Given the description of an element on the screen output the (x, y) to click on. 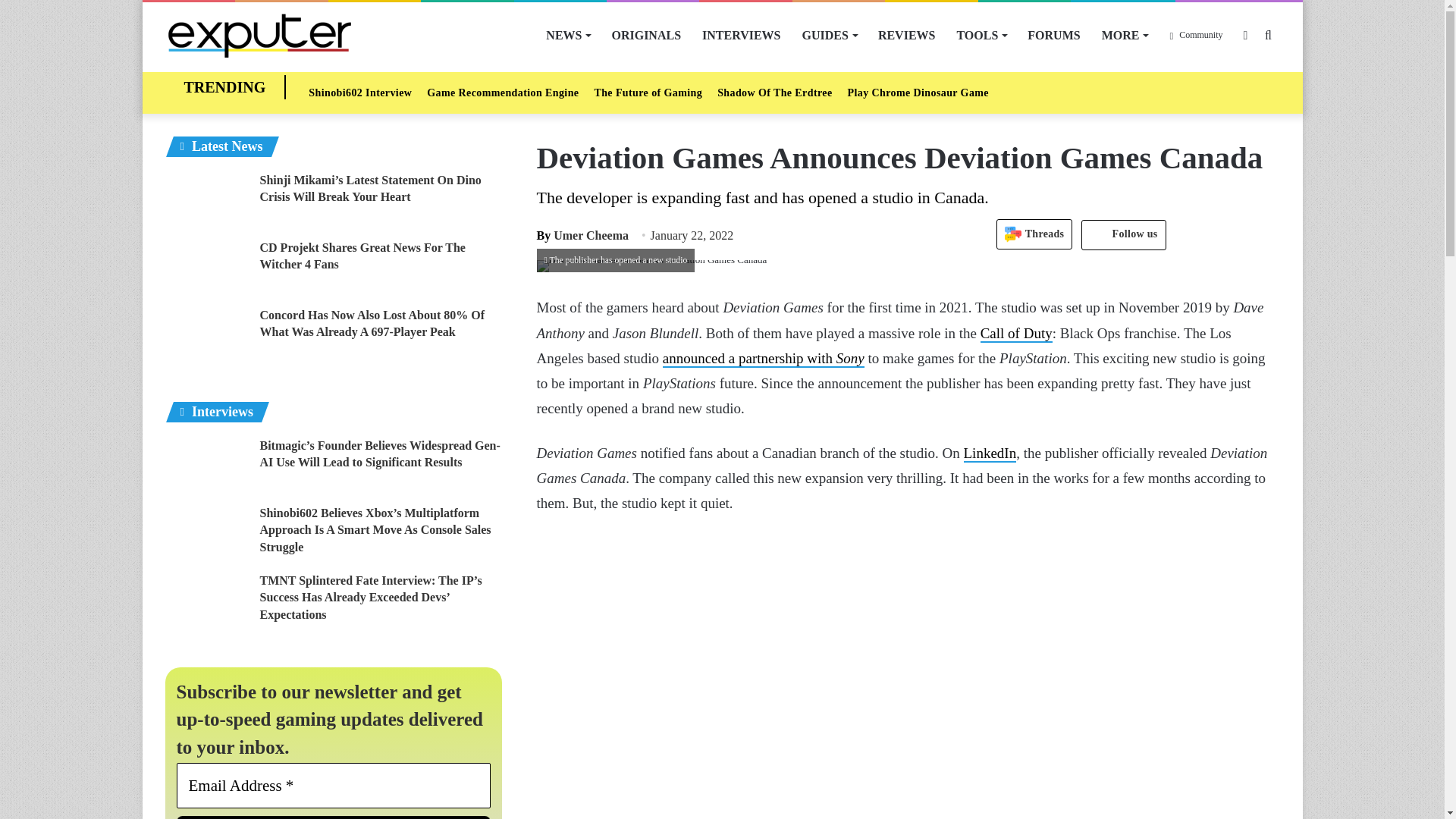
GUIDES (829, 35)
FORUMS (1053, 35)
REVIEWS (906, 35)
Umer Cheema (582, 235)
MORE (1124, 35)
Email Address (333, 785)
NEWS (567, 35)
eXputer.com (259, 34)
ORIGINALS (645, 35)
